Given the description of an element on the screen output the (x, y) to click on. 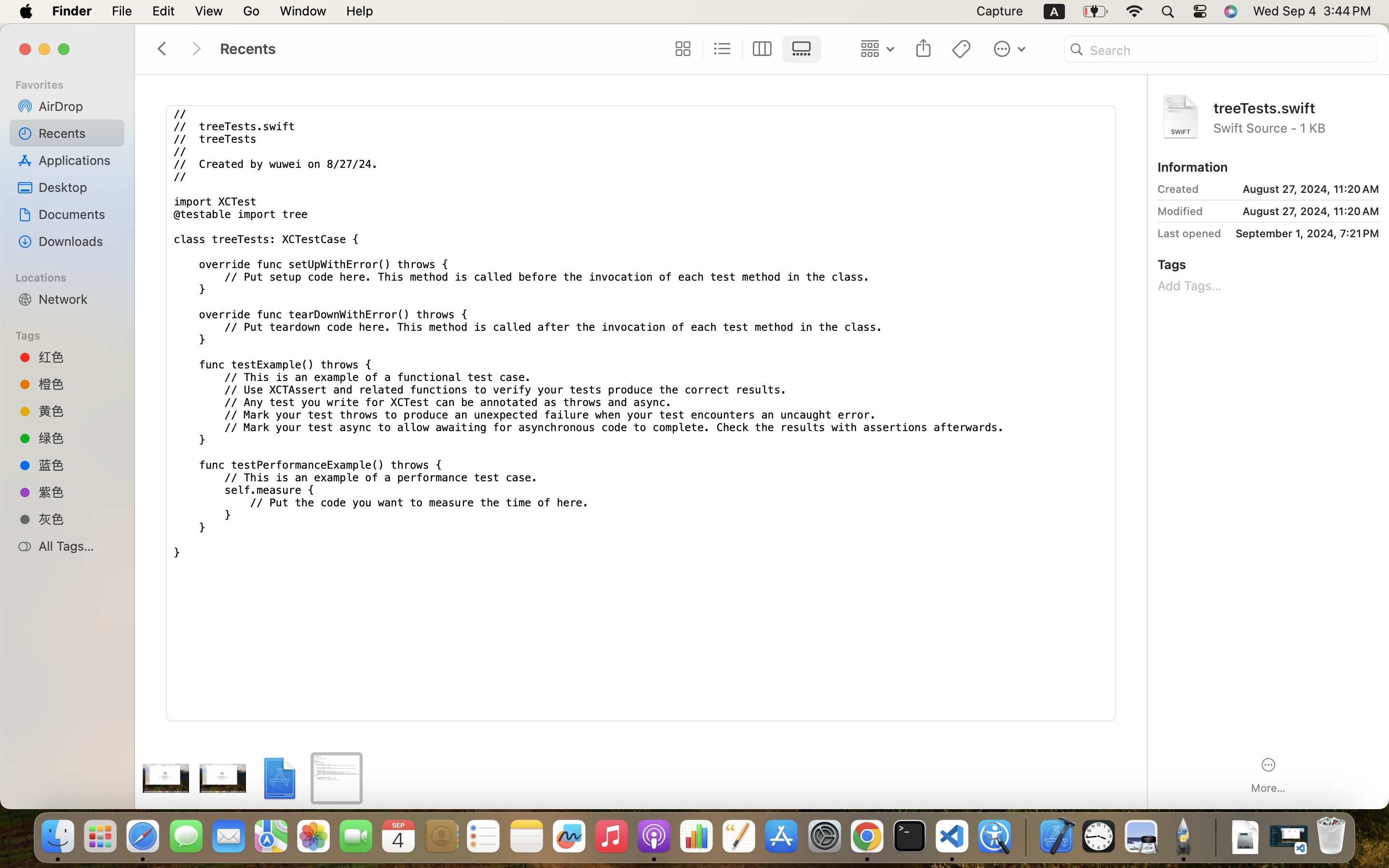
Last opened Element type: AXStaticText (1189, 233)
treeTests.swift Element type: AXStaticText (1296, 106)
August 27, 2024, 11:20 AM Element type: AXStaticText (1292, 188)
Downloads Element type: AXStaticText (77, 240)
All Tags… Element type: AXStaticText (77, 545)
